Given the description of an element on the screen output the (x, y) to click on. 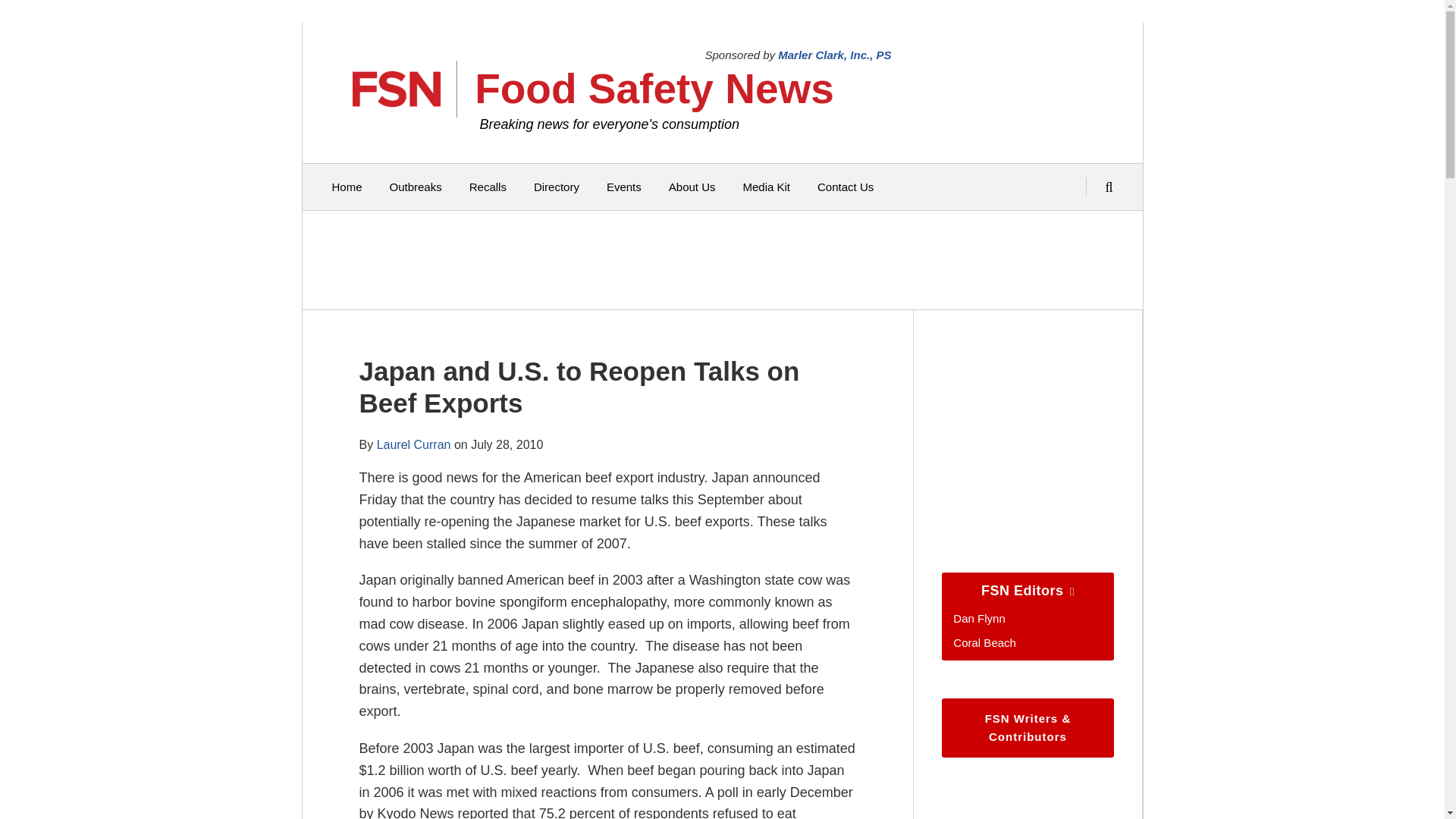
Recalls (487, 187)
Events (624, 187)
Home (346, 187)
Food Safety News (654, 88)
About Us (692, 187)
Directory (556, 187)
Laurel Curran (414, 444)
Contact Us (844, 187)
Marler Clark, Inc., PS (834, 54)
Outbreaks (416, 187)
Dan Flynn (978, 617)
Media Kit (766, 187)
Coral Beach (984, 642)
